Given the description of an element on the screen output the (x, y) to click on. 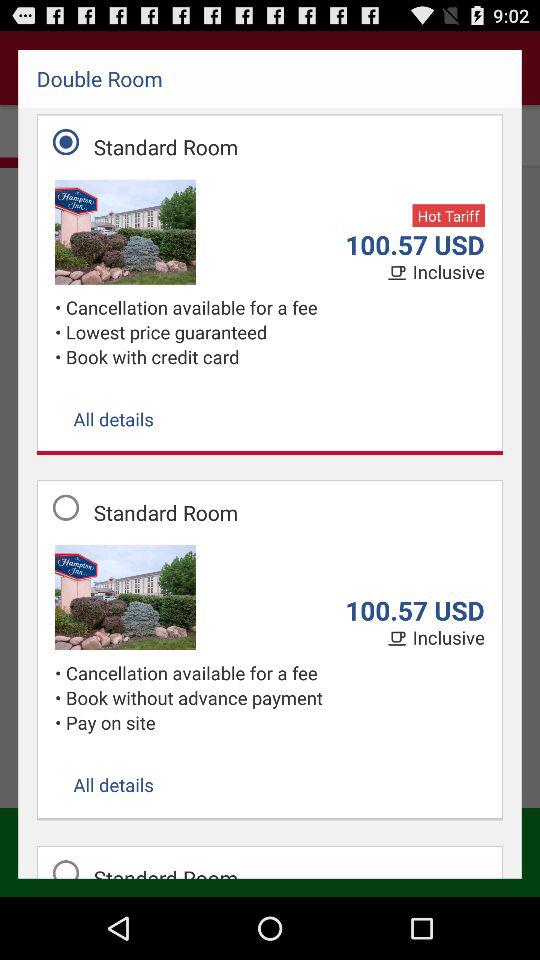
launch item above all details item (60, 356)
